Given the description of an element on the screen output the (x, y) to click on. 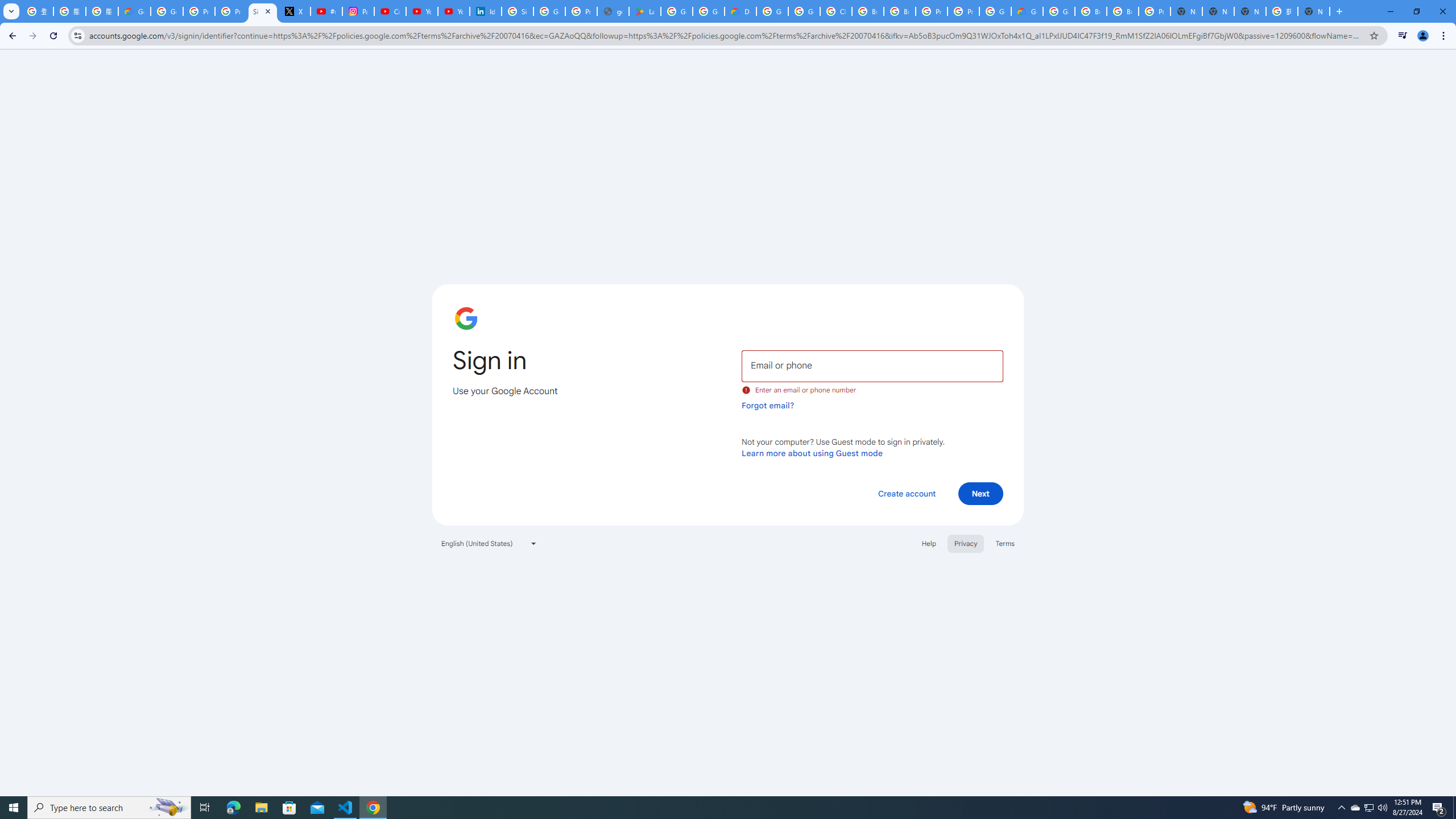
Privacy (965, 542)
Google Cloud Estimate Summary (1027, 11)
YouTube Culture & Trends - YouTube Top 10, 2021 (453, 11)
Forgot email? (767, 404)
Browse Chrome as a guest - Computer - Google Chrome Help (899, 11)
New Tab (1185, 11)
Browse Chrome as a guest - Computer - Google Chrome Help (1091, 11)
Learn more about using Guest mode (812, 452)
